Given the description of an element on the screen output the (x, y) to click on. 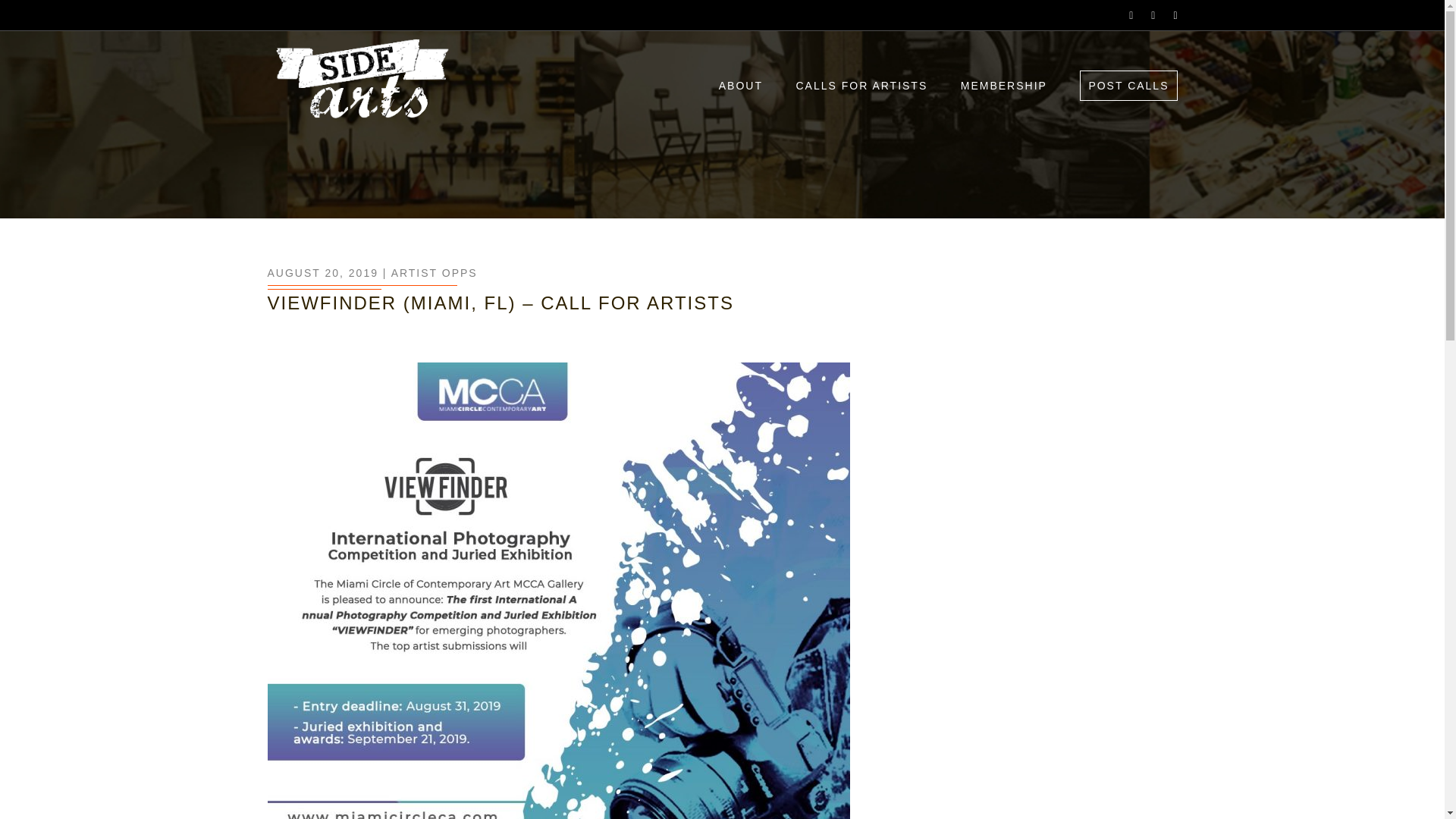
ARTIST OPPS (434, 272)
POST CALLS (1128, 85)
MEMBERSHIP (1003, 86)
CALLS FOR ARTISTS (860, 86)
ABOUT (740, 86)
